Given the description of an element on the screen output the (x, y) to click on. 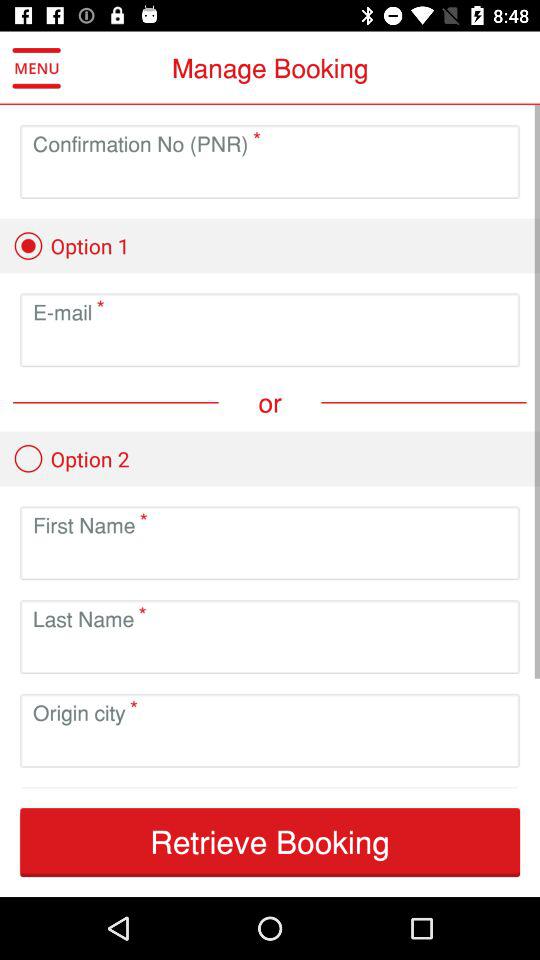
tap retrieve booking icon (269, 842)
